Given the description of an element on the screen output the (x, y) to click on. 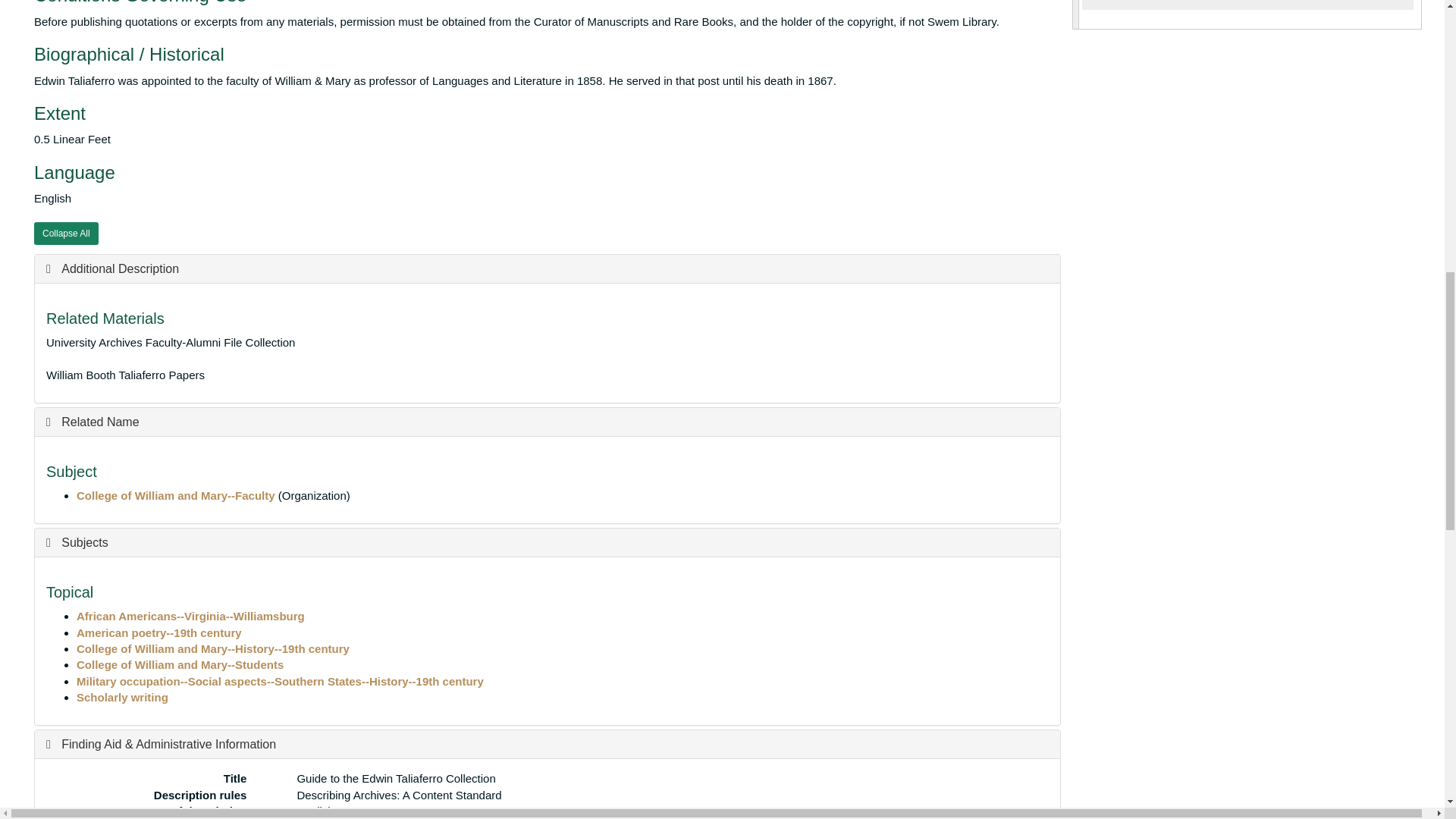
African Americans--Virginia--Williamsburg (190, 615)
Related Name (92, 421)
Additional Description (112, 268)
75 (1075, 13)
College of William and Mary--Students (180, 664)
College of William and Mary--Faculty (176, 495)
College of William and Mary--History--19th century (213, 648)
Scholarly writing (122, 697)
Subjects (76, 542)
American poetry--19th century (159, 632)
Collapse All (66, 232)
